Given the description of an element on the screen output the (x, y) to click on. 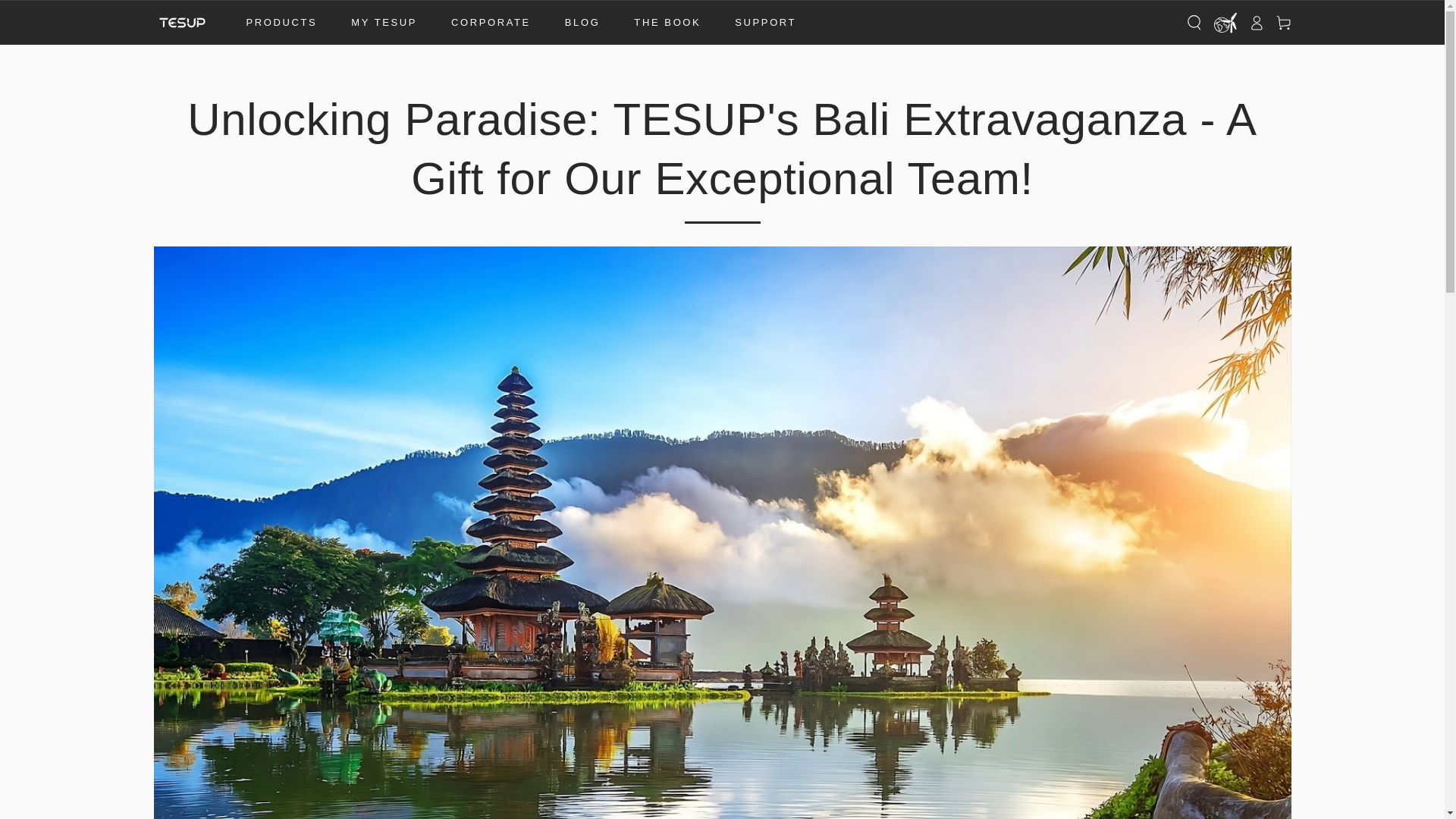
PRODUCTS (281, 22)
SUPPORT (765, 22)
My Tesup (383, 22)
Support (765, 22)
Blog (582, 22)
CORPORATE (490, 22)
MY TESUP (383, 22)
Corporate (490, 22)
BLOG (582, 22)
Products (281, 22)
The Book (667, 22)
THE BOOK (667, 22)
